Given the description of an element on the screen output the (x, y) to click on. 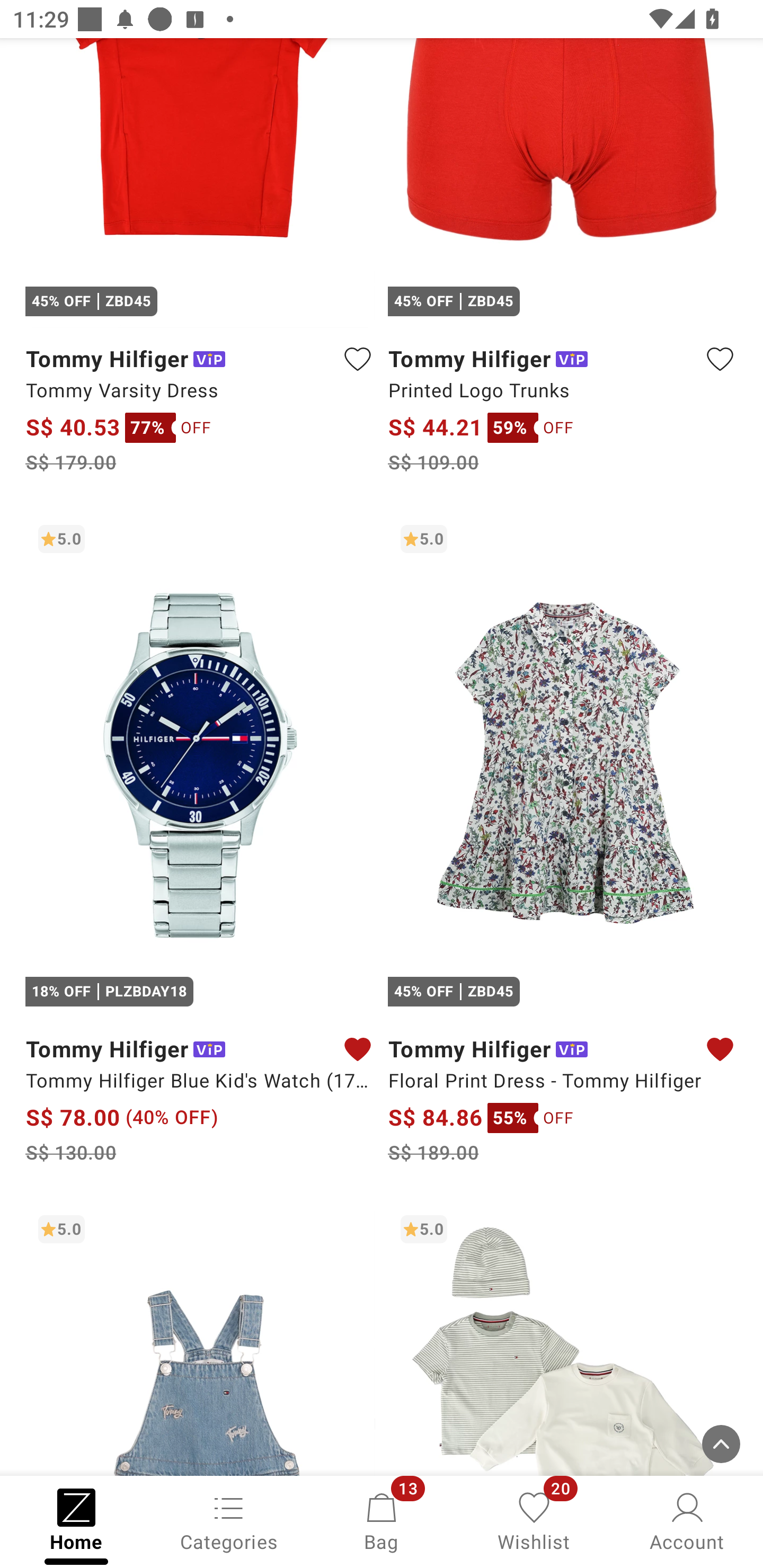
5.0 (200, 1338)
5.0 (562, 1338)
Categories (228, 1519)
Bag, 13 new notifications Bag (381, 1519)
Wishlist, 20 new notifications Wishlist (533, 1519)
Account (686, 1519)
